Given the description of an element on the screen output the (x, y) to click on. 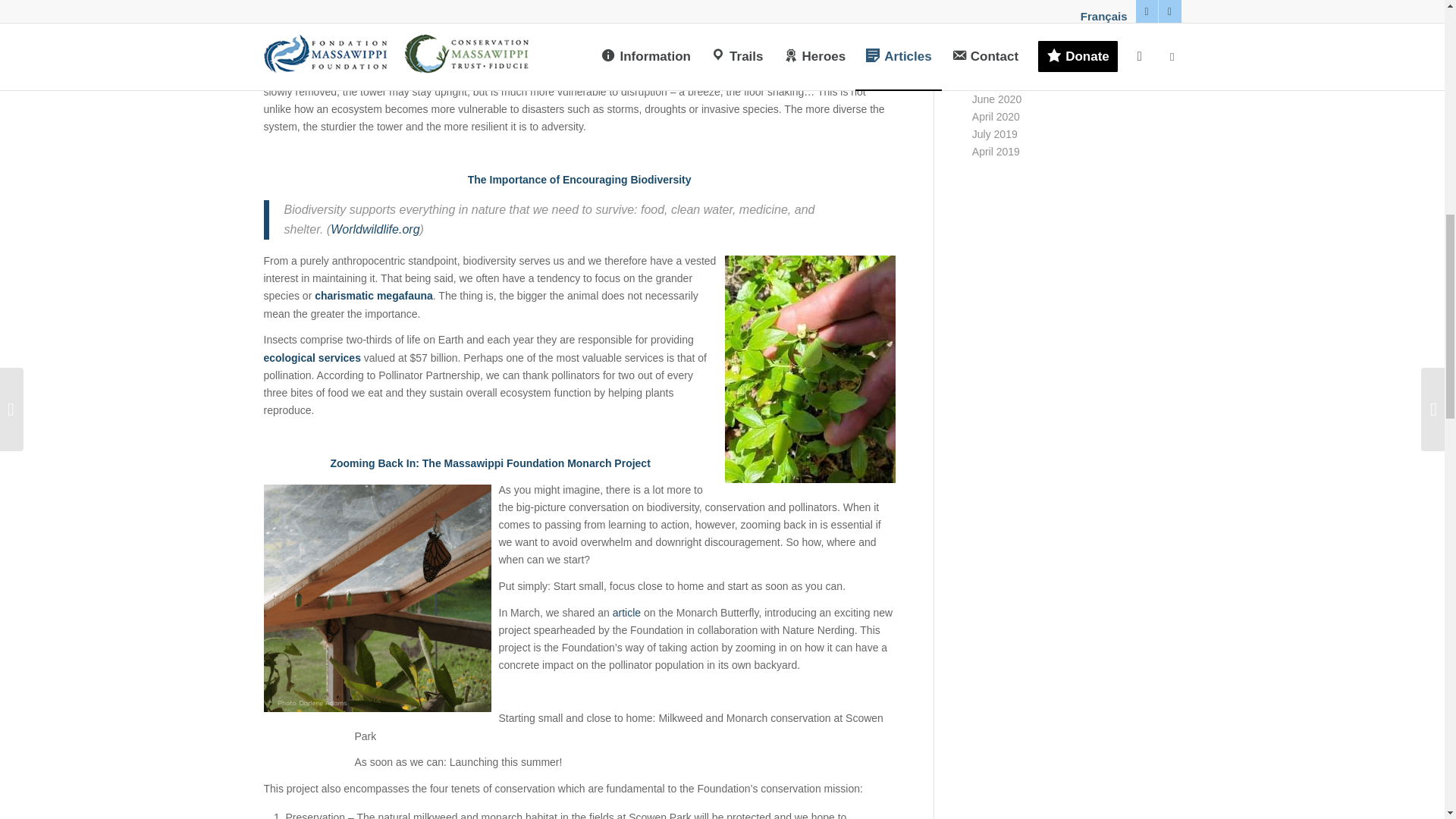
article (626, 612)
Worldwildlife.org (374, 228)
